Given the description of an element on the screen output the (x, y) to click on. 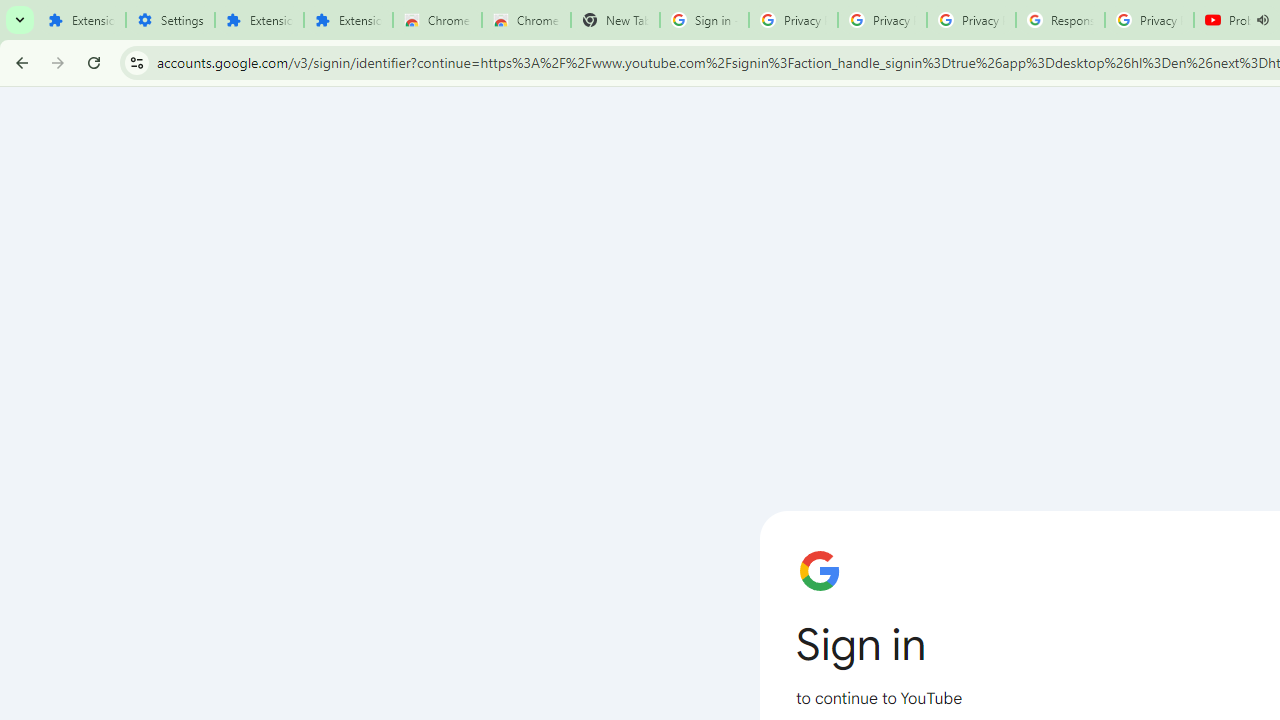
Chrome Web Store (437, 20)
Extensions (347, 20)
New Tab (615, 20)
Chrome Web Store - Themes (526, 20)
Extensions (259, 20)
Settings (170, 20)
Sign in - Google Accounts (704, 20)
